Given the description of an element on the screen output the (x, y) to click on. 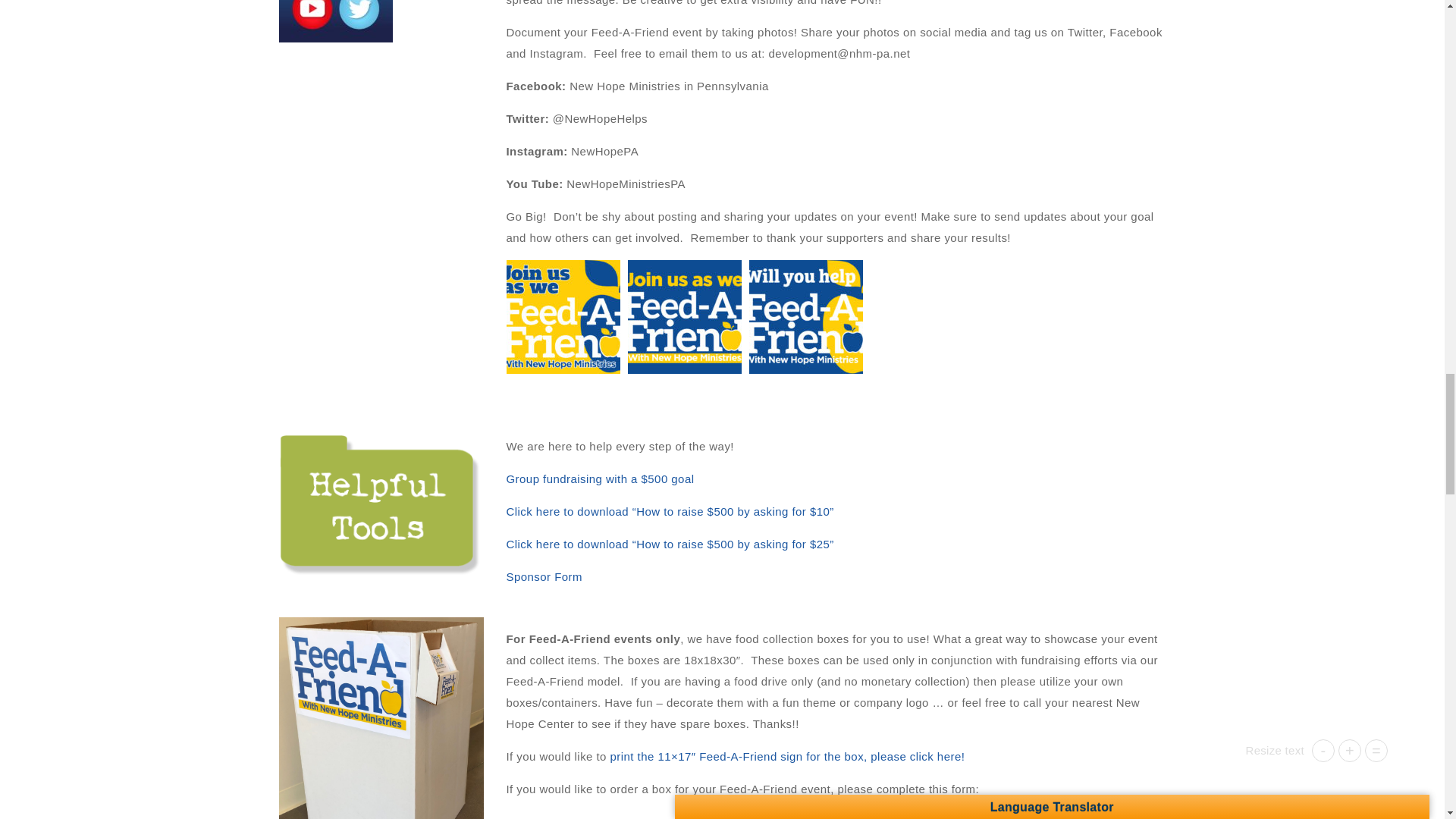
helpful tools (381, 501)
FAF box (381, 718)
four-social-media-icons (336, 21)
